Given the description of an element on the screen output the (x, y) to click on. 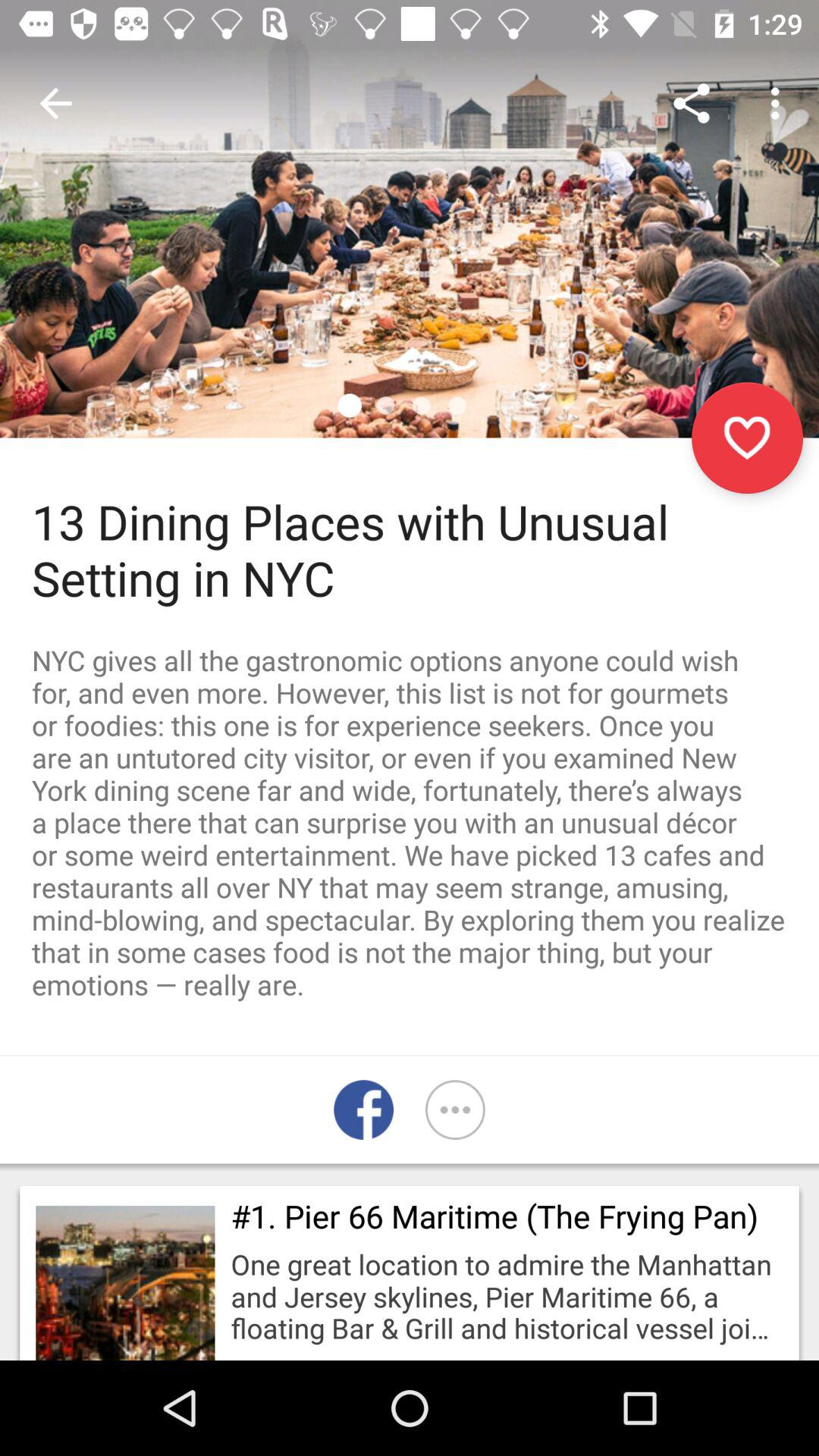
press icon at the top left corner (55, 103)
